Given the description of an element on the screen output the (x, y) to click on. 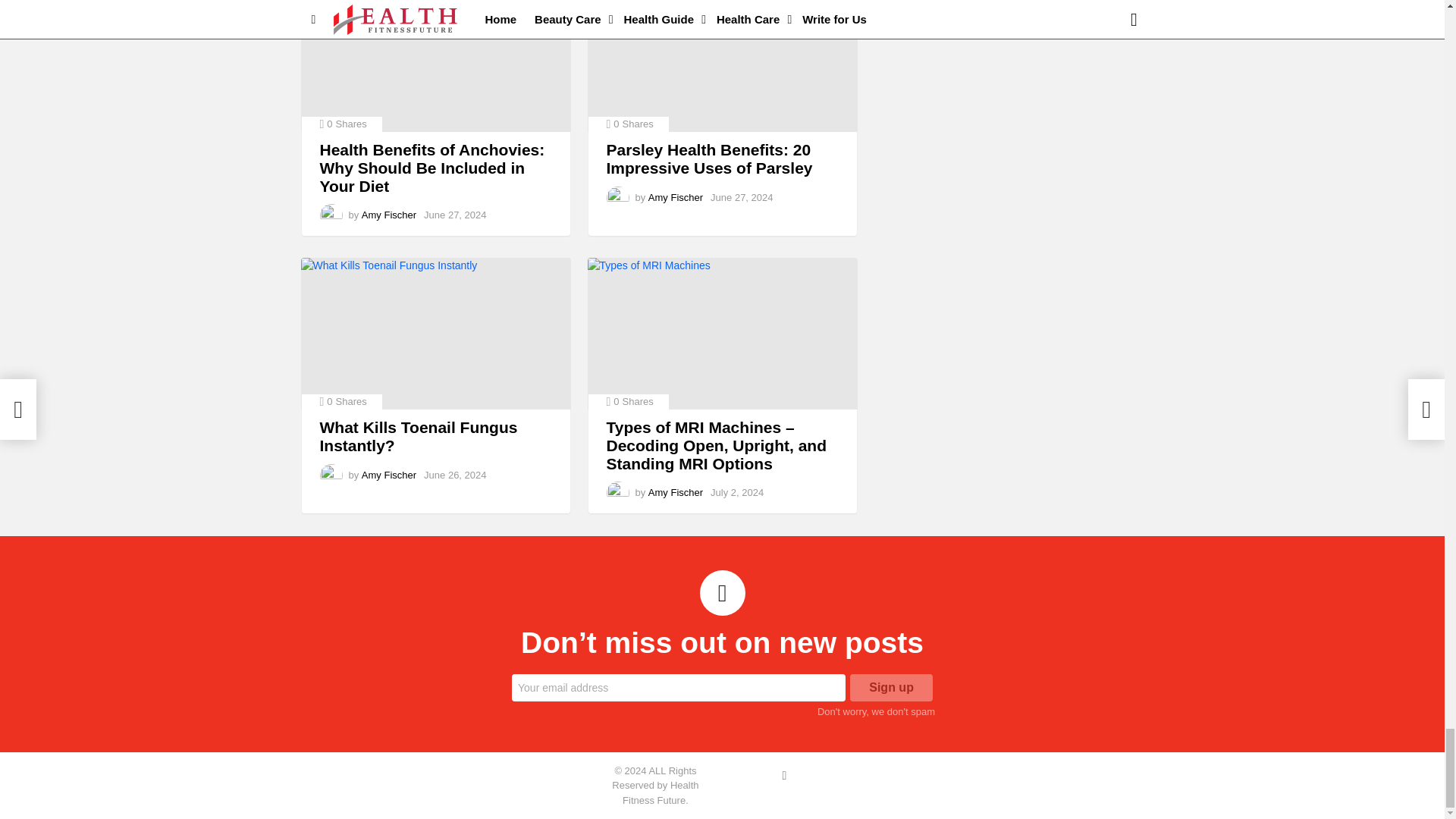
Sign up (891, 687)
